Given the description of an element on the screen output the (x, y) to click on. 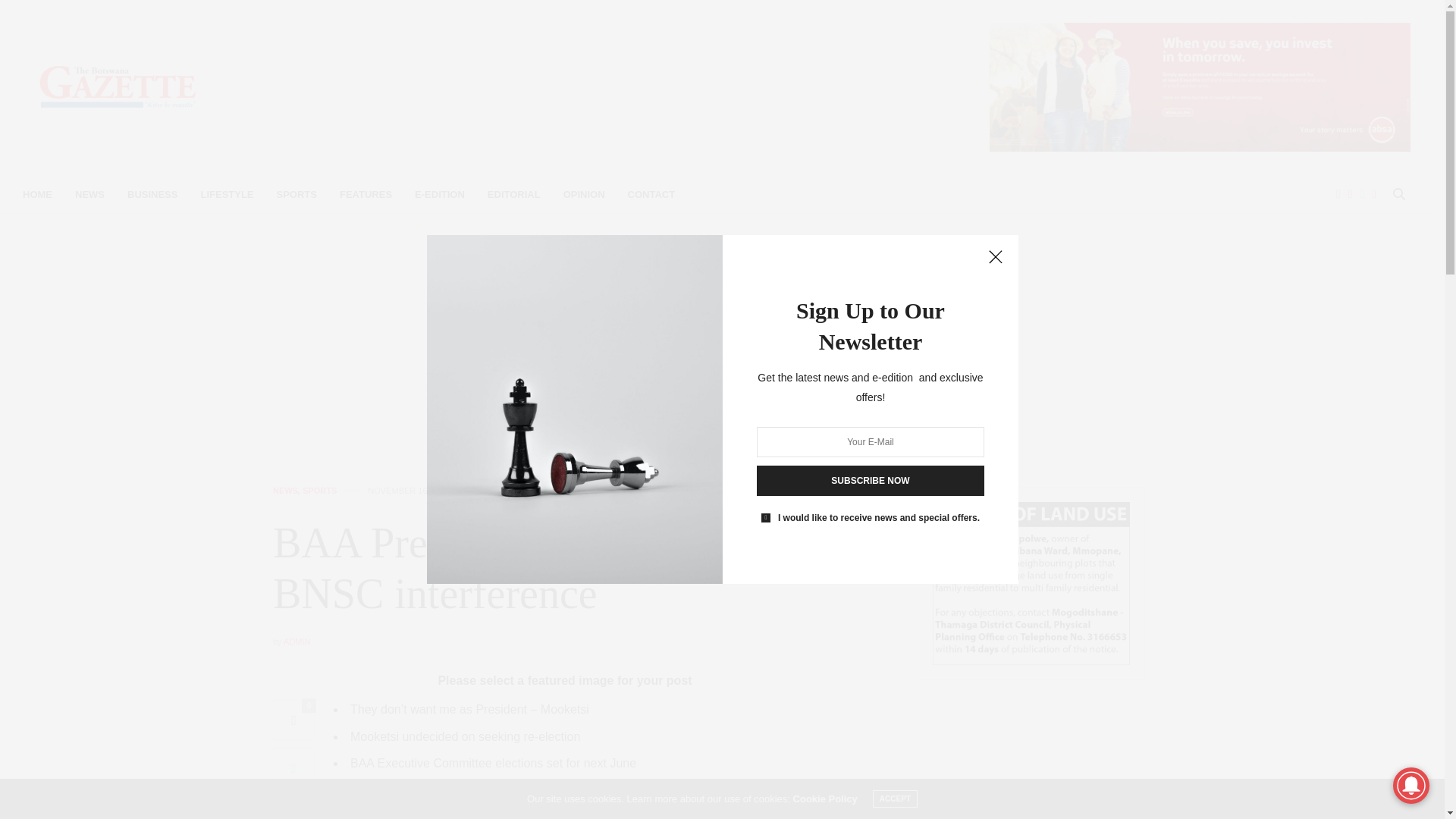
LIFESTYLE (226, 193)
Posts by Admin (296, 641)
NEWS (285, 490)
BUSINESS (152, 193)
SPORTS (296, 193)
EDITORIAL (513, 193)
SPORTS (319, 490)
ADMIN (296, 641)
SUBSCRIBE NOW (870, 481)
Botswana Gazette (117, 86)
CONTACT (651, 193)
FEATURES (365, 193)
OPINION (584, 193)
Scroll To Top (1408, 782)
